Given the description of an element on the screen output the (x, y) to click on. 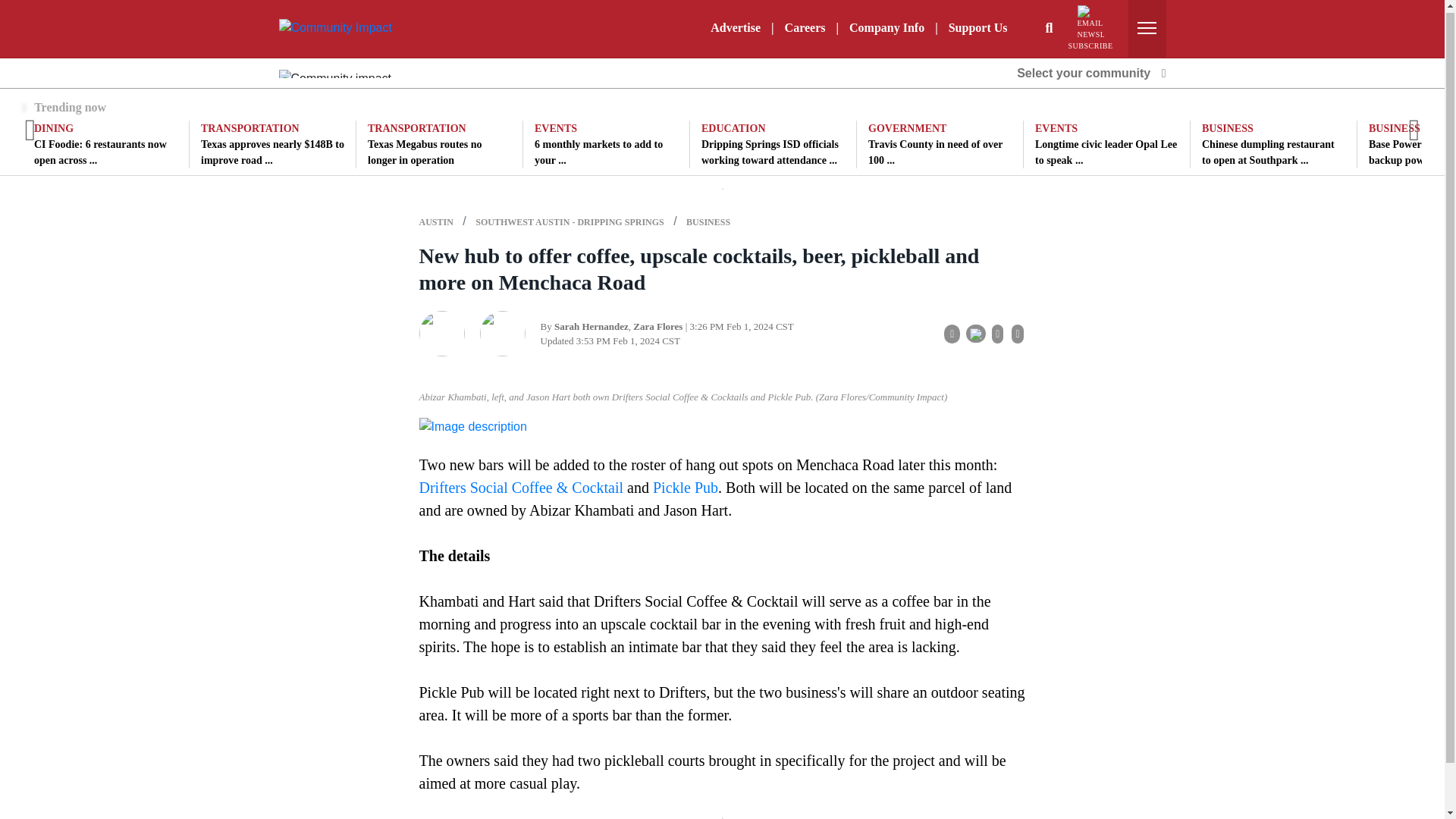
SUBSCRIBE (1090, 27)
Company Info (886, 27)
Support Us (977, 27)
Careers (804, 27)
Advertise (735, 27)
Community Impact Newspaper (335, 27)
